Given the description of an element on the screen output the (x, y) to click on. 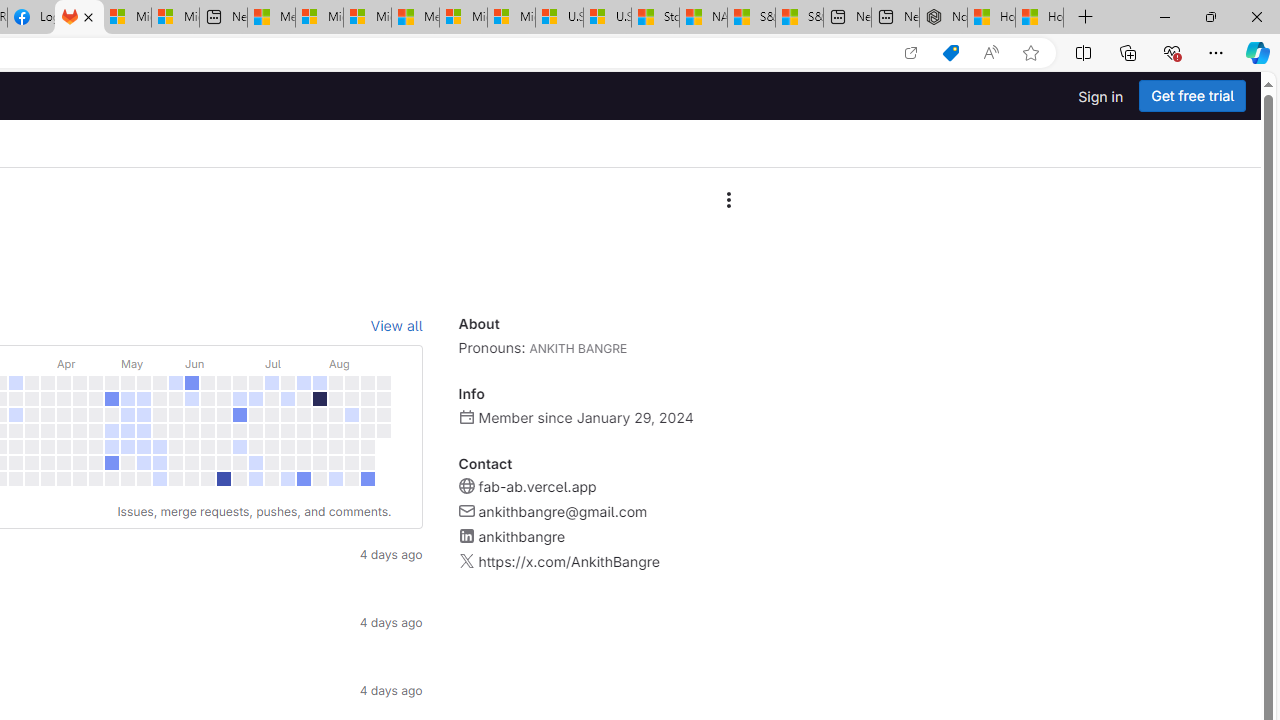
How to Use a Monitor With Your Closed Laptop (1039, 17)
